Given the description of an element on the screen output the (x, y) to click on. 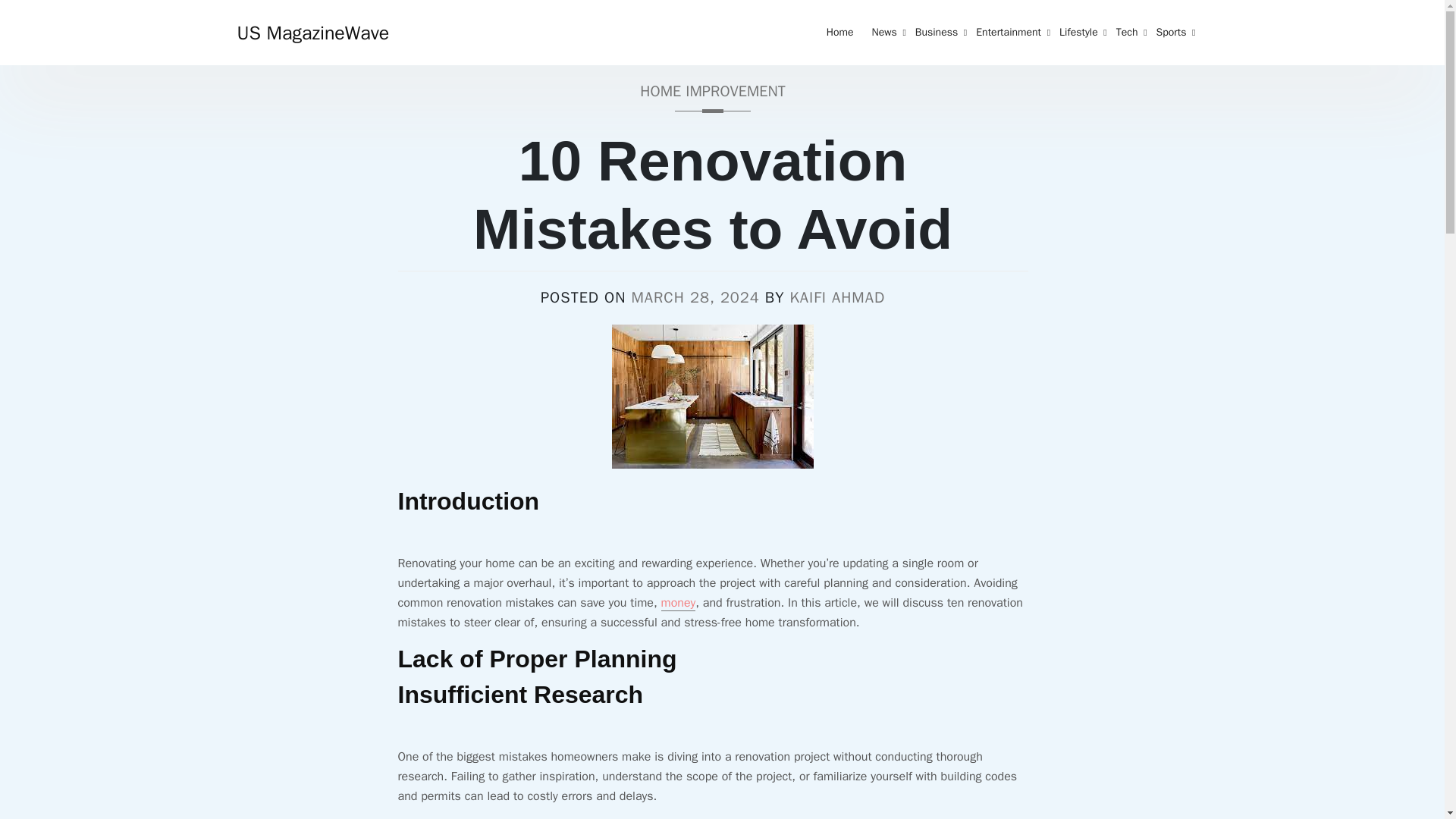
Lifestyle (1077, 33)
Tech (1126, 33)
money (678, 602)
News (883, 33)
MARCH 28, 2024 (694, 297)
Home (839, 33)
Entertainment (1007, 33)
HOME IMPROVEMENT (712, 96)
KAIFI AHMAD (837, 297)
Business (935, 33)
Sports (1171, 33)
US MagazineWave (311, 33)
